Given the description of an element on the screen output the (x, y) to click on. 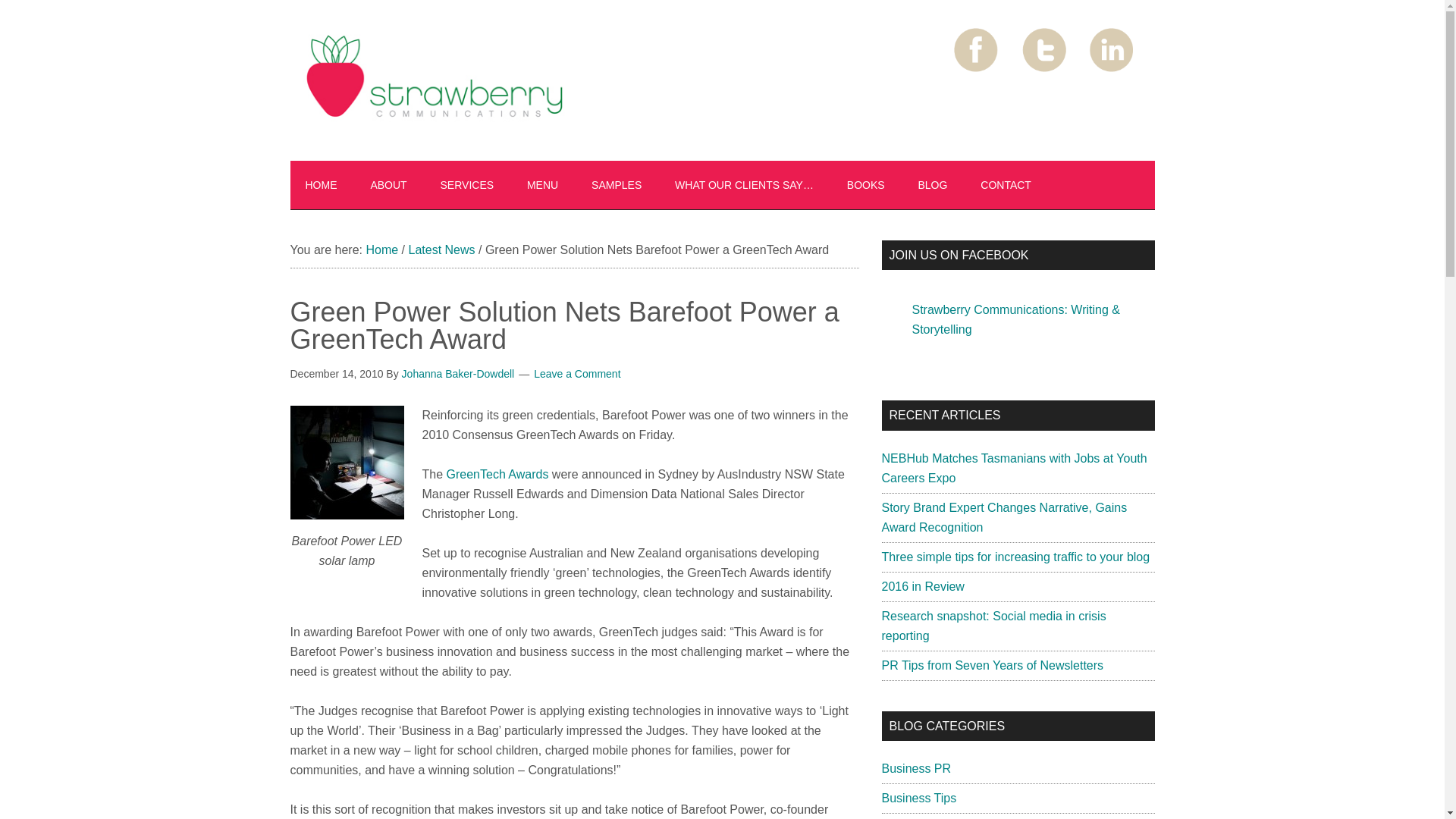
Leave a Comment (577, 373)
SERVICES (467, 184)
GreenTech Awards (497, 473)
CONTACT (1005, 184)
facebook (976, 49)
Research snapshot: Social media in crisis reporting (992, 625)
BFP Ewa Solar Light (346, 462)
PR Tips from Seven Years of Newsletters (991, 665)
Three simple tips for increasing traffic to your blog (1015, 556)
